Given the description of an element on the screen output the (x, y) to click on. 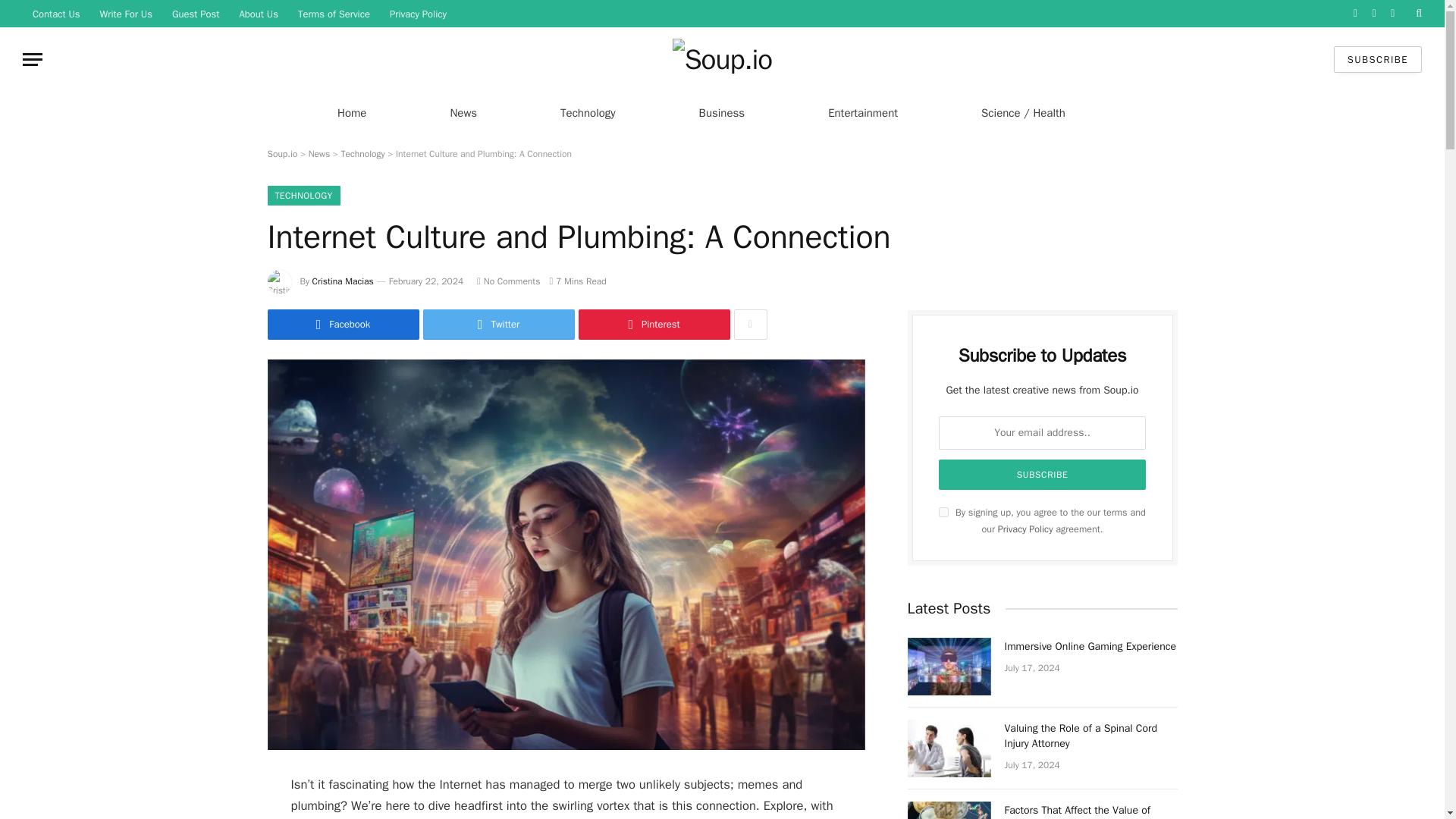
Subscribe (1043, 474)
Posts by Cristina Macias (343, 281)
News (319, 153)
SUBSCRIBE (1377, 58)
Soup.io (281, 153)
Technology (362, 153)
Write For Us (125, 13)
Business (722, 112)
Guest Post (195, 13)
Technology (588, 112)
Soup.io (722, 59)
Share on Pinterest (653, 324)
Privacy Policy (418, 13)
About Us (257, 13)
